Given the description of an element on the screen output the (x, y) to click on. 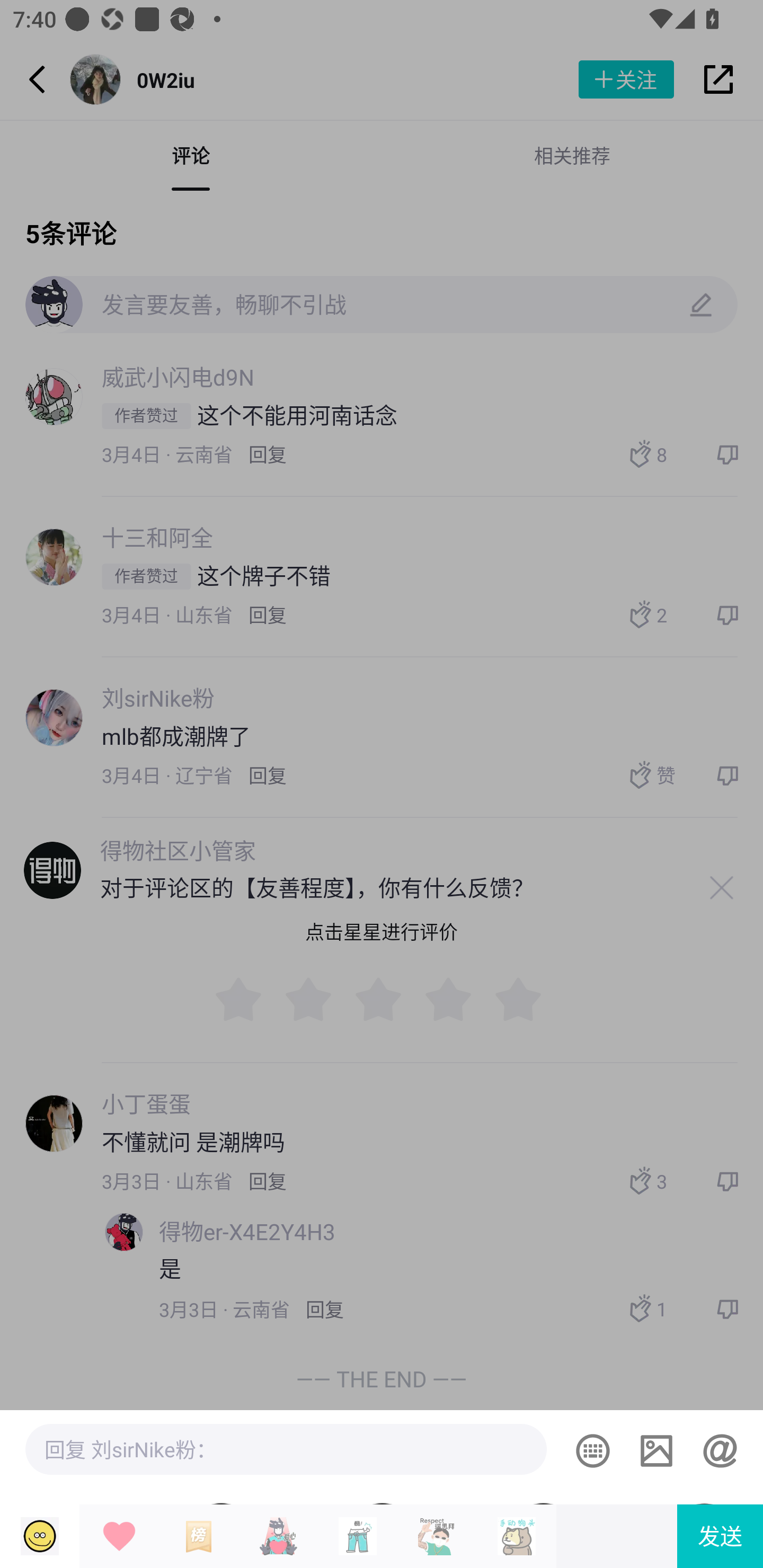
回复 刘sirNike粉： (286, 1449)
发送 (720, 1535)
